Given the description of an element on the screen output the (x, y) to click on. 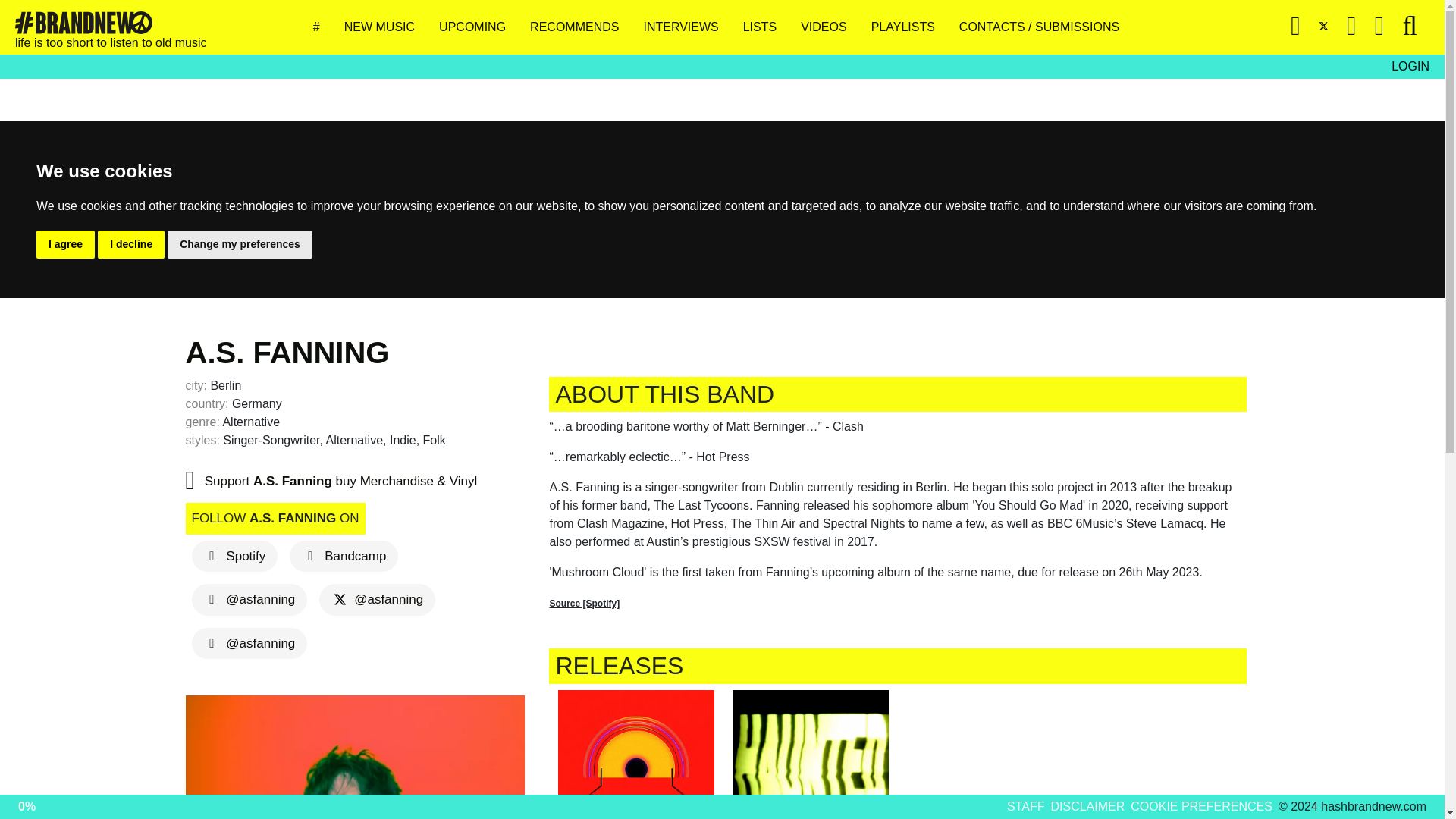
life is too short to listen to old music (83, 22)
NEW MUSIC (384, 26)
LISTS (765, 26)
life is too short to listen to old music (110, 26)
Upcoming (478, 26)
I agree (65, 244)
A.S. FANNING (286, 352)
INTERVIEWS (686, 26)
I decline (130, 244)
RECOMMENDS (579, 26)
